Given the description of an element on the screen output the (x, y) to click on. 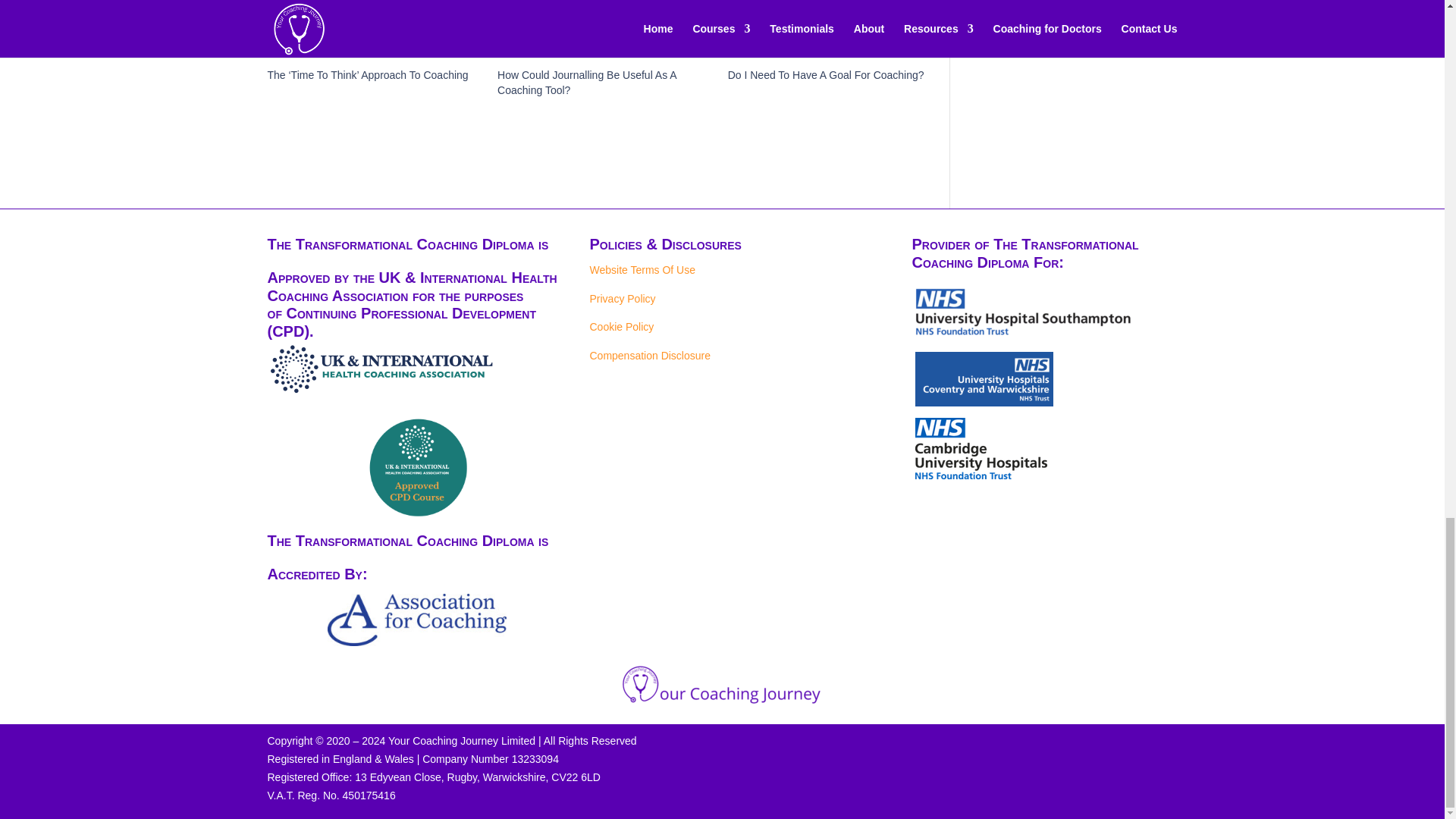
Do I Need To Have A Goal For Coaching? (826, 74)
How Could Journalling Be Useful As A Coaching Tool? (605, 33)
Approved CPD course (416, 466)
cambridge UH trust (991, 448)
Do I Need To Have A Goal For Coaching? (826, 74)
How Could Journalling Be Useful As A Coaching Tool? (587, 82)
Blue (416, 619)
Screenshot-2023-02-16-at-12.42.52-1 (983, 379)
NHS southampton logo (1024, 311)
Do I Need To Have A Goal For Coaching? (835, 33)
